Given the description of an element on the screen output the (x, y) to click on. 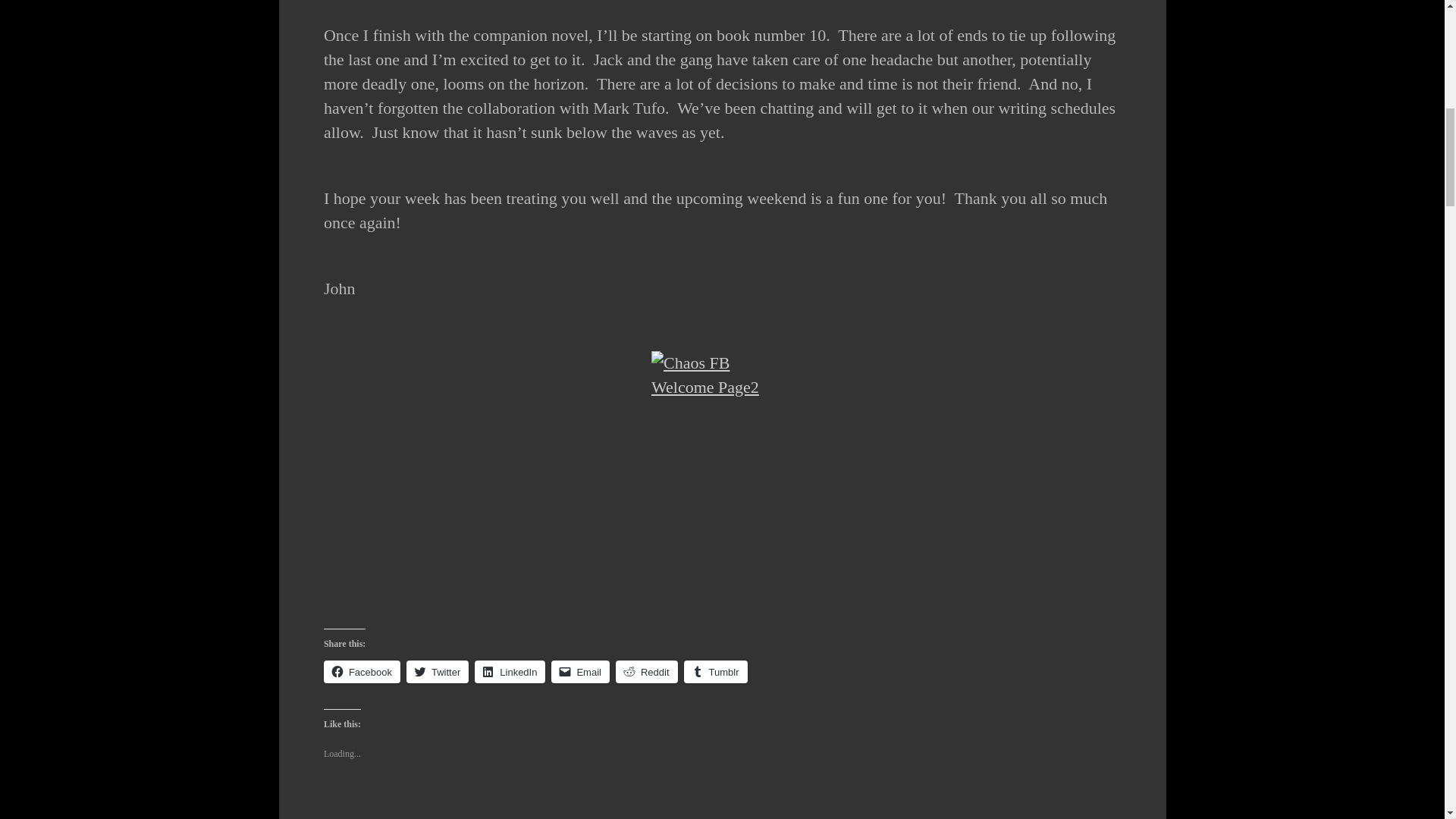
Reddit (646, 671)
Email (580, 671)
Click to share on LinkedIn (509, 671)
LinkedIn (509, 671)
Click to email a link to a friend (580, 671)
Click to share on Reddit (646, 671)
Click to share on Twitter (437, 671)
Tumblr (716, 671)
Click to share on Facebook (361, 671)
Twitter (437, 671)
Facebook (361, 671)
Click to share on Tumblr (716, 671)
